Given the description of an element on the screen output the (x, y) to click on. 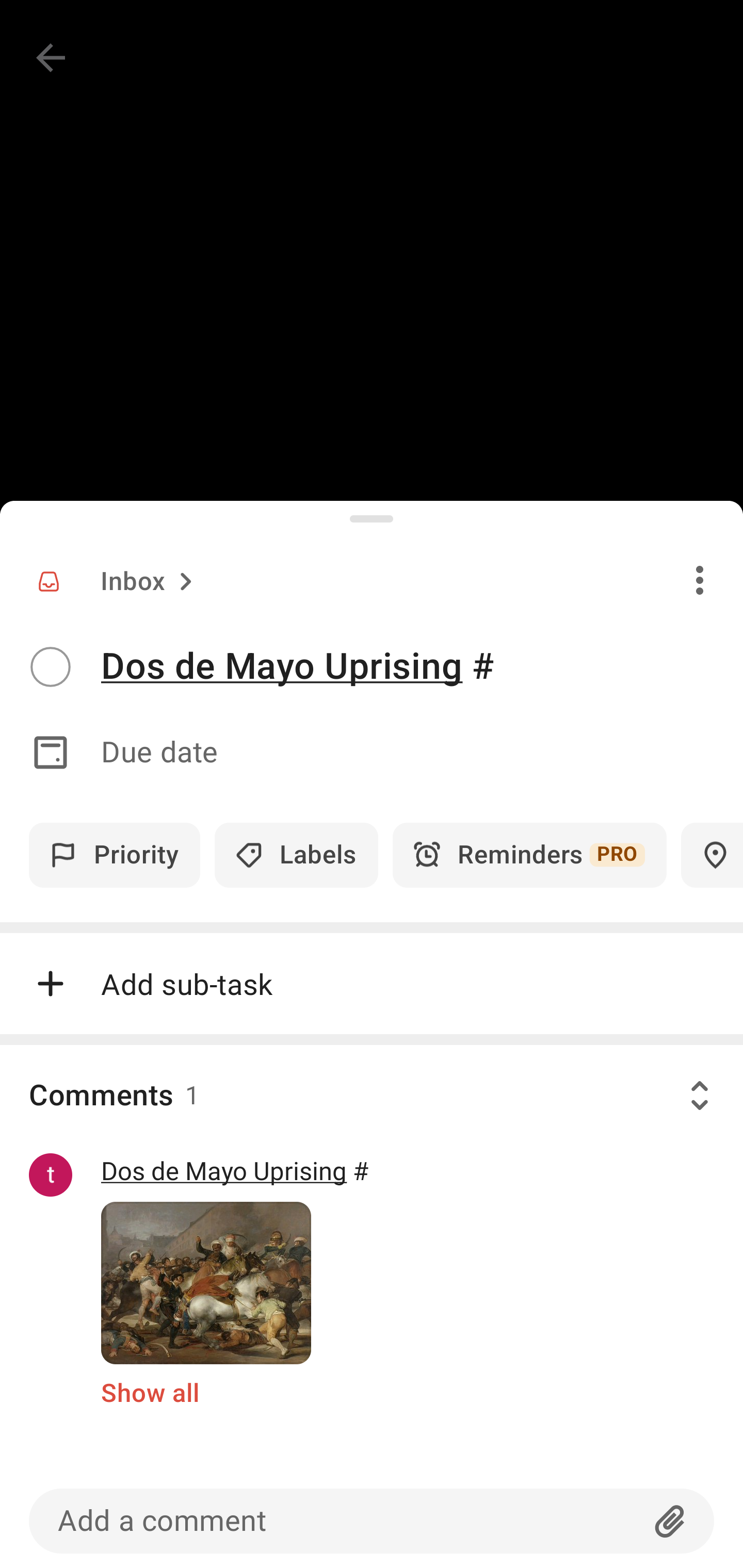
Overflow menu (699, 580)
Complete (50, 667)
Dos de Mayo Uprising #​ (422, 666)
Date Due date (371, 752)
Priority (113, 855)
Labels (296, 855)
Reminders PRO (529, 855)
Locations PRO (712, 855)
Add sub-task (371, 983)
Add a comment Attachment (371, 1520)
Attachment (670, 1520)
